Given the description of an element on the screen output the (x, y) to click on. 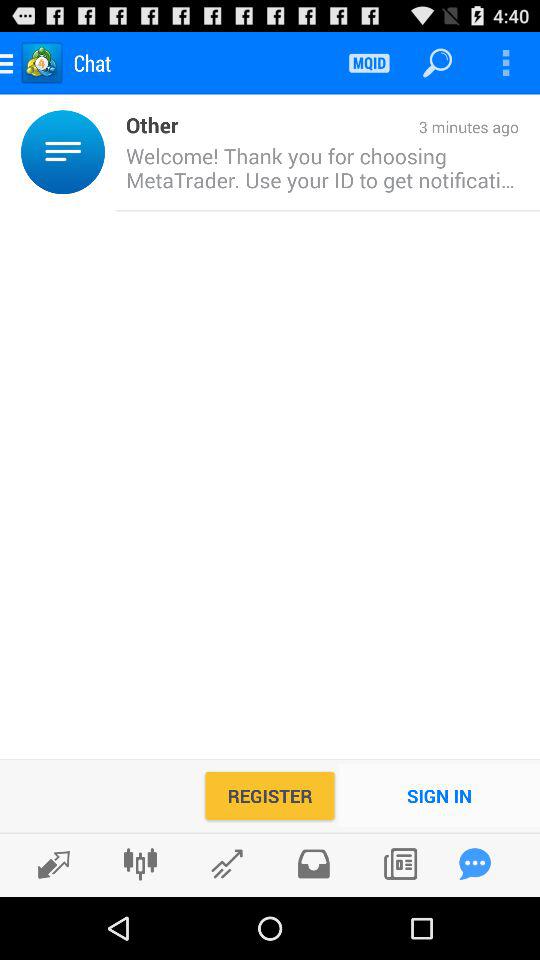
open the icon next to the other (110, 152)
